Given the description of an element on the screen output the (x, y) to click on. 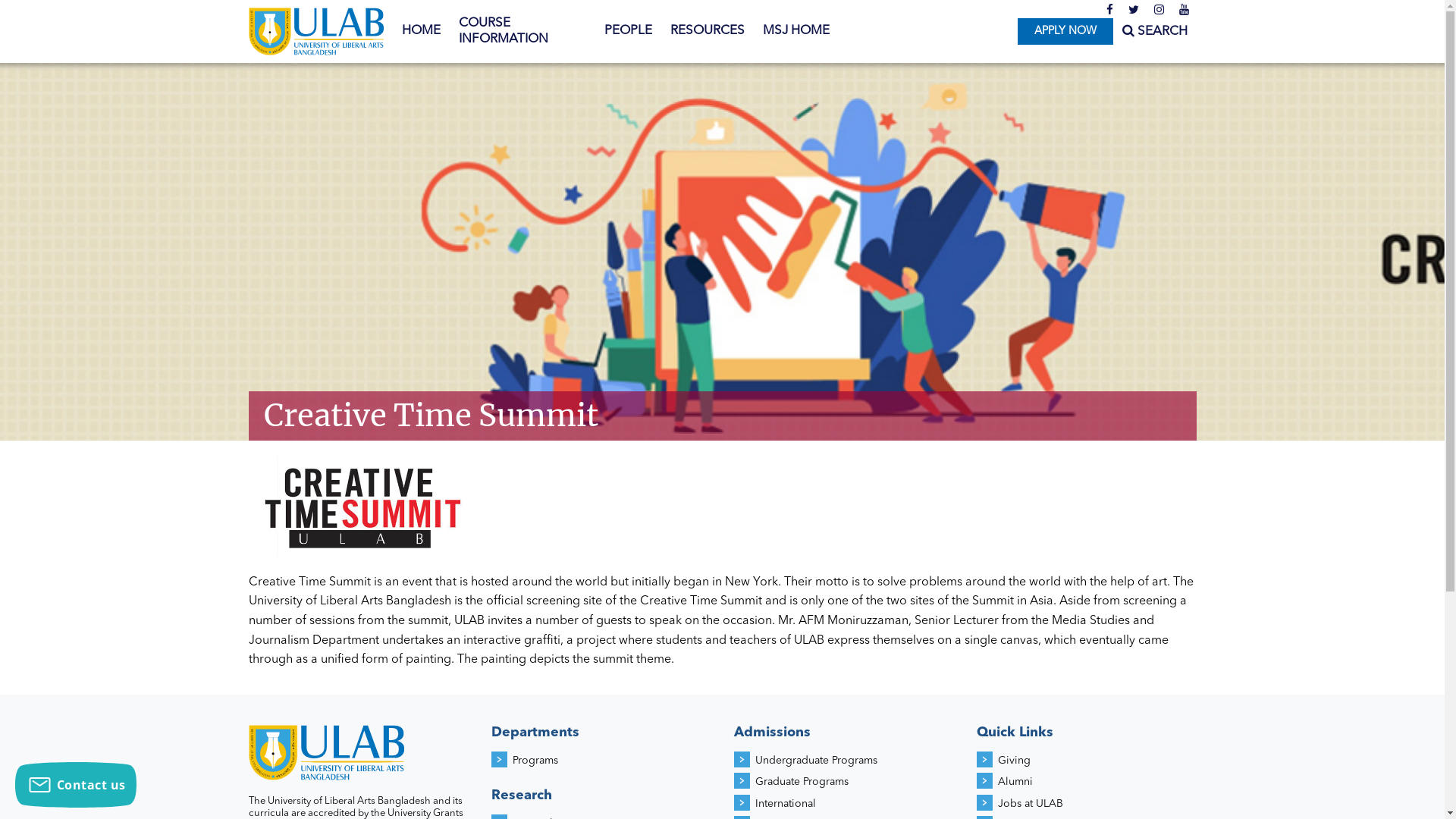
SEARCH Element type: text (1154, 31)
Jobs at ULAB Element type: text (1030, 803)
Giving Element type: text (1013, 760)
International Element type: text (785, 803)
RESOURCES Element type: text (707, 30)
Graduate Programs Element type: text (801, 781)
Contact us Element type: text (75, 784)
Programs Element type: text (535, 760)
Undergraduate Programs Element type: text (816, 760)
Skip to main content Element type: text (61, 0)
APPLY NOW Element type: text (1064, 31)
PEOPLE Element type: text (627, 30)
Alumni Element type: text (1014, 781)
HOME Element type: text (420, 30)
COURSE INFORMATION Element type: text (521, 31)
MSJ HOME Element type: text (795, 30)
